Given the description of an element on the screen output the (x, y) to click on. 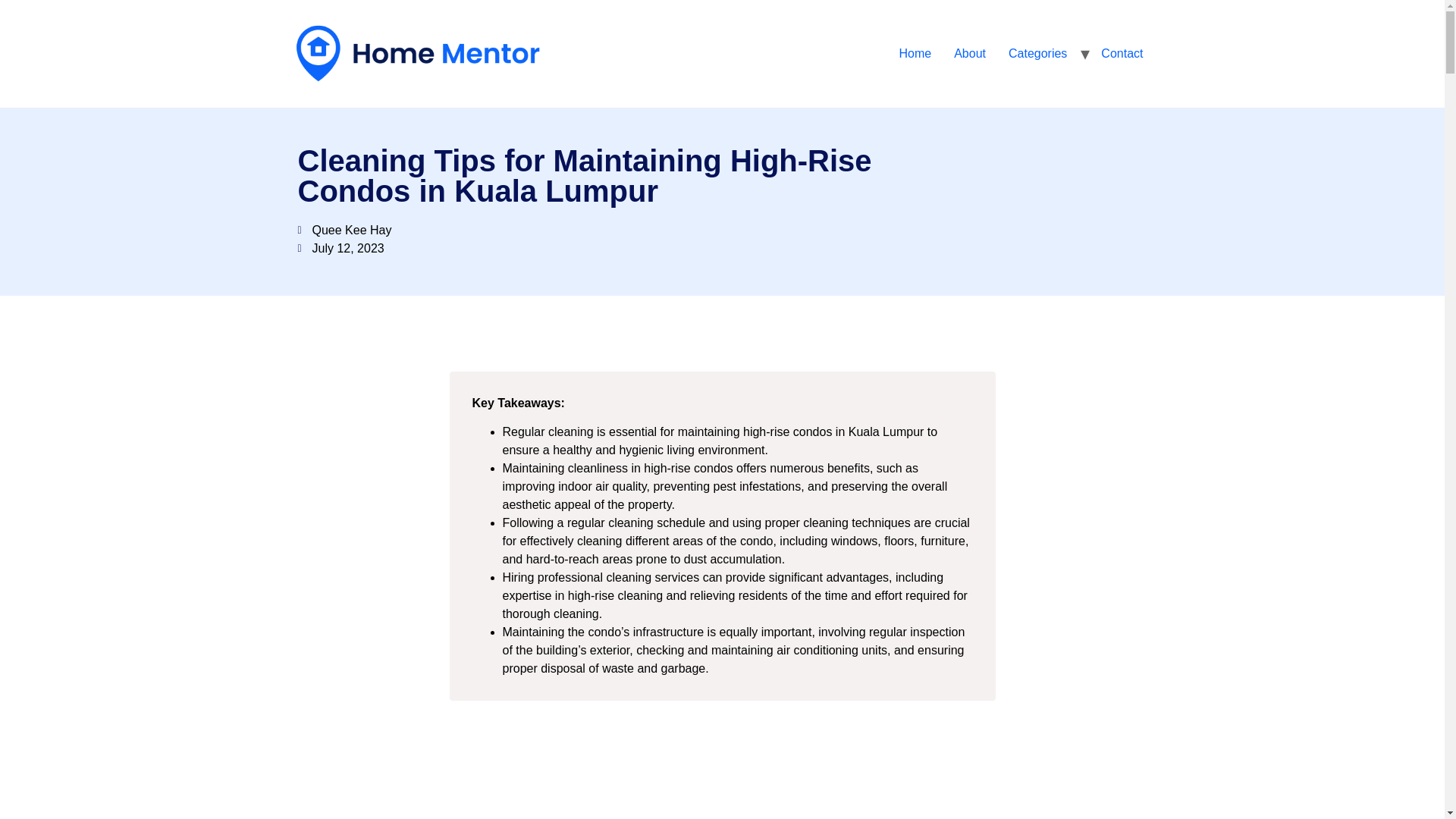
About (969, 53)
Contact (1121, 53)
Categories (1037, 53)
Home (914, 53)
